Given the description of an element on the screen output the (x, y) to click on. 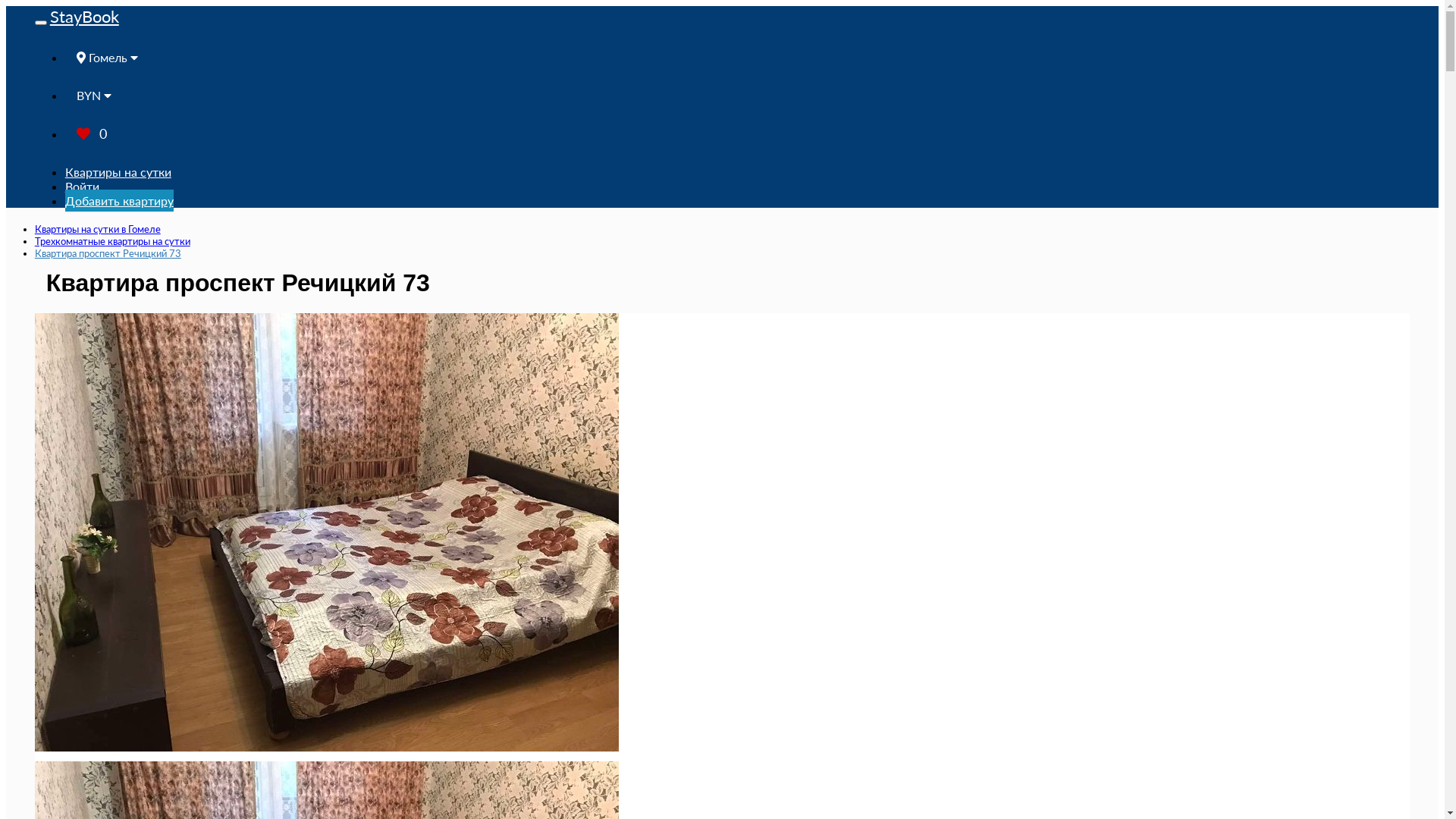
0 Element type: text (91, 133)
Toggle navigation Element type: text (40, 22)
StayBook Element type: text (84, 16)
